Given the description of an element on the screen output the (x, y) to click on. 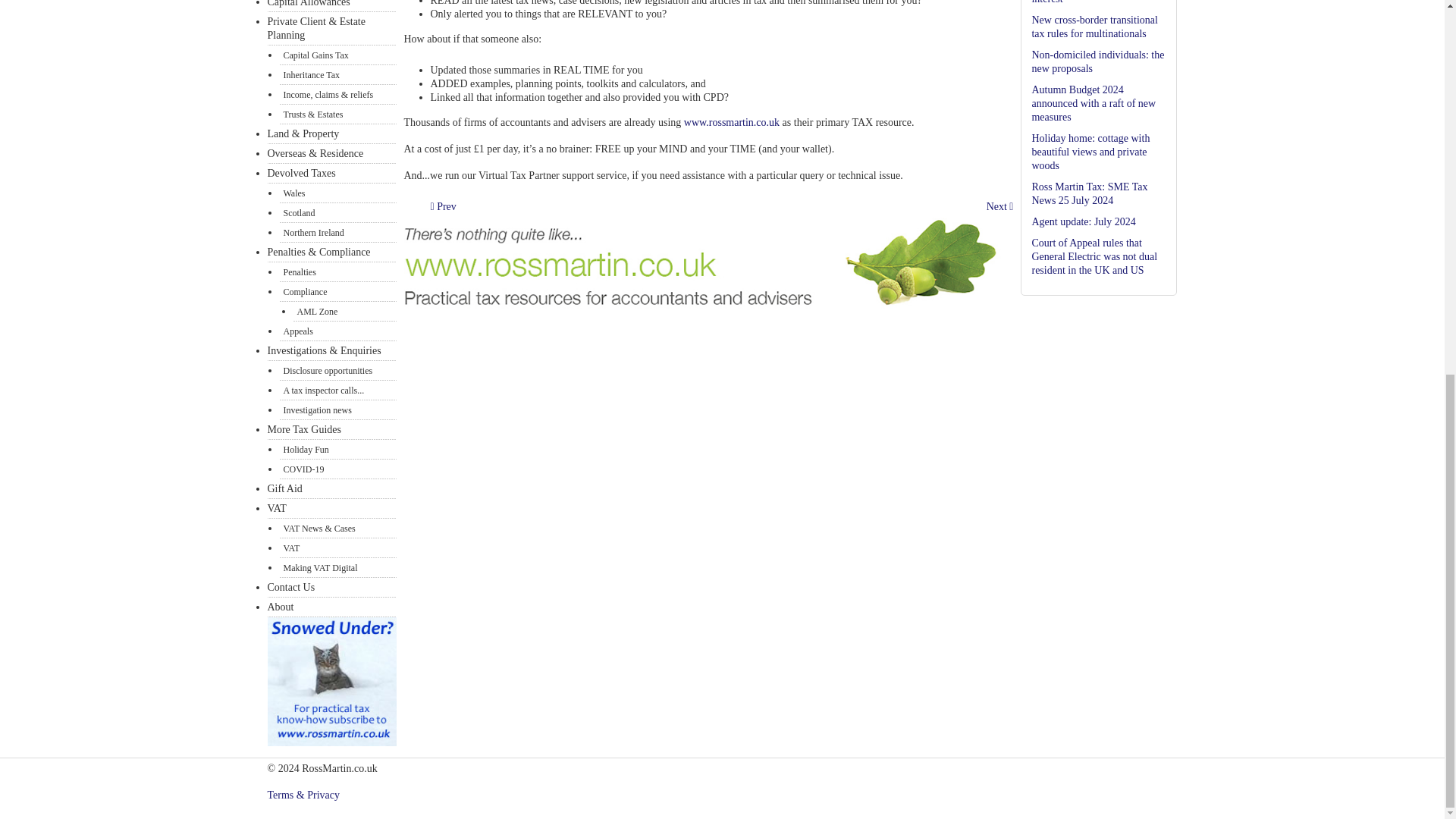
Draft PSA legislation (443, 206)
Capital Allowances (331, 6)
Employment status: new consultation (1000, 206)
Snowed under? (331, 742)
